Given the description of an element on the screen output the (x, y) to click on. 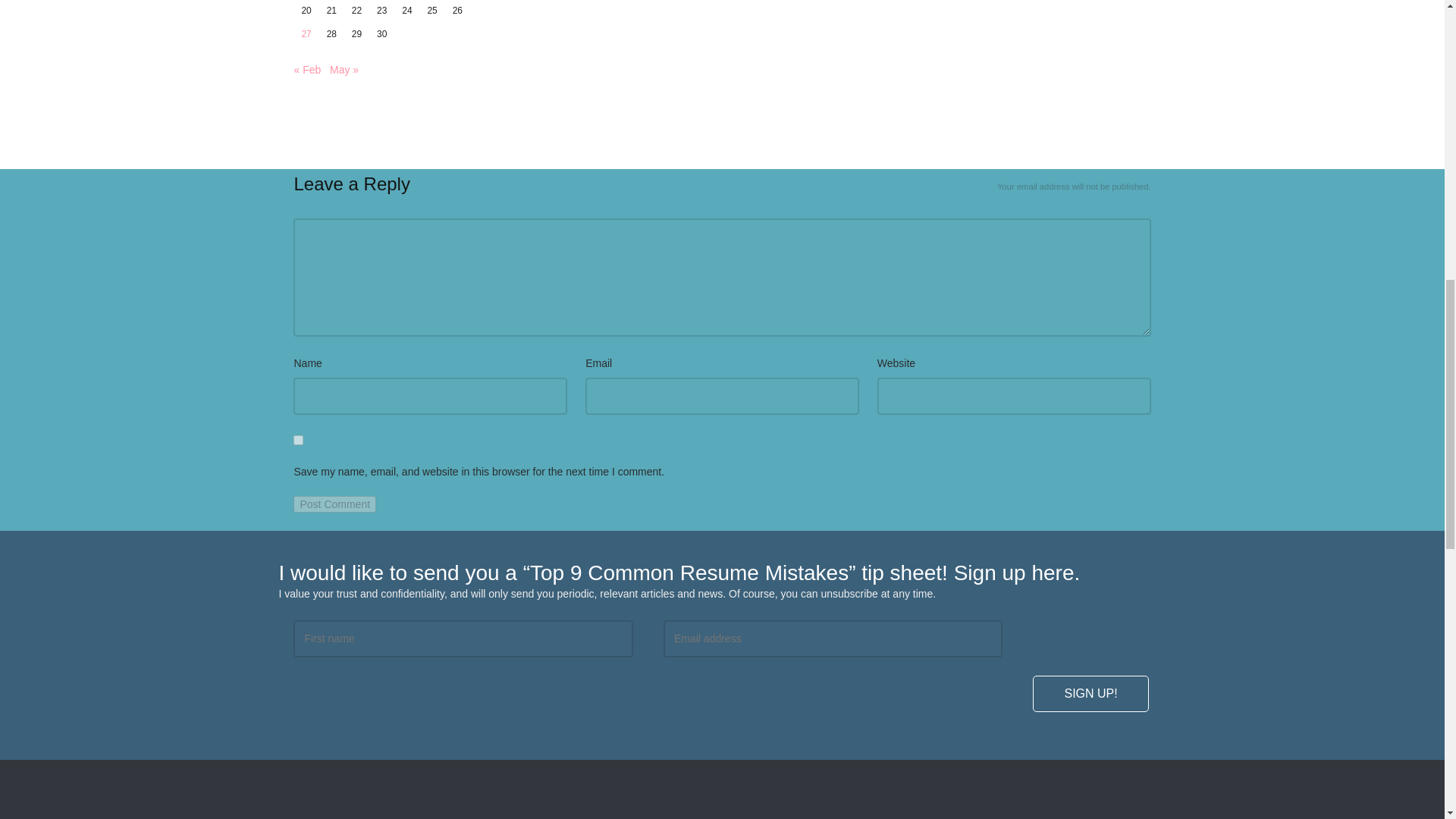
SIGN UP! (1090, 693)
Post Comment (334, 504)
27 (306, 33)
Post Comment (334, 504)
SIGN UP! (1090, 693)
yes (298, 439)
